Given the description of an element on the screen output the (x, y) to click on. 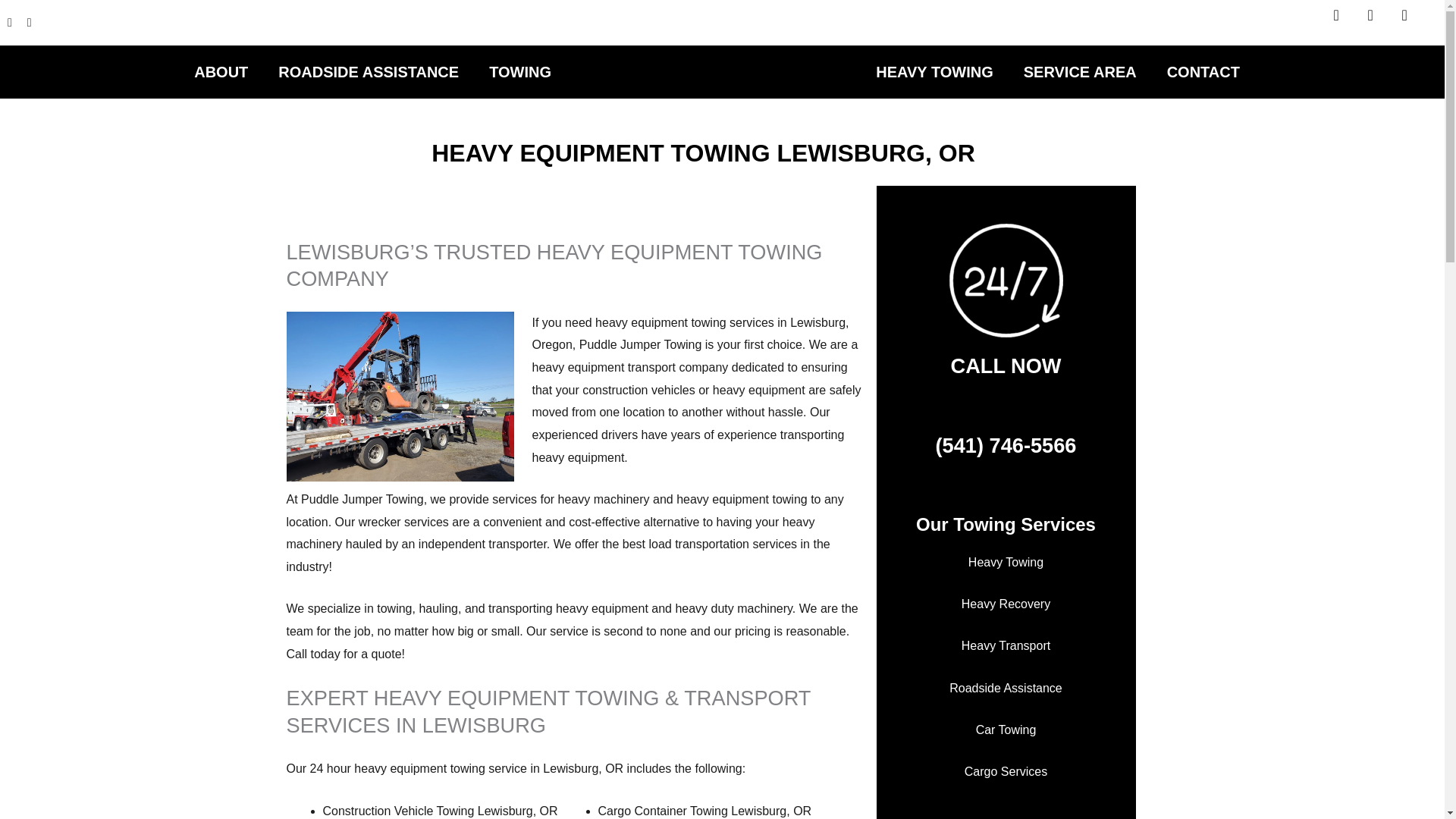
HEAVY TOWING (937, 71)
ABOUT (224, 71)
Facebook-f (1342, 22)
SERVICE AREA (1083, 71)
ROADSIDE ASSISTANCE (371, 71)
CONTACT (1203, 71)
Yelp (1411, 22)
Google (1377, 22)
TOWING (523, 71)
